Given the description of an element on the screen output the (x, y) to click on. 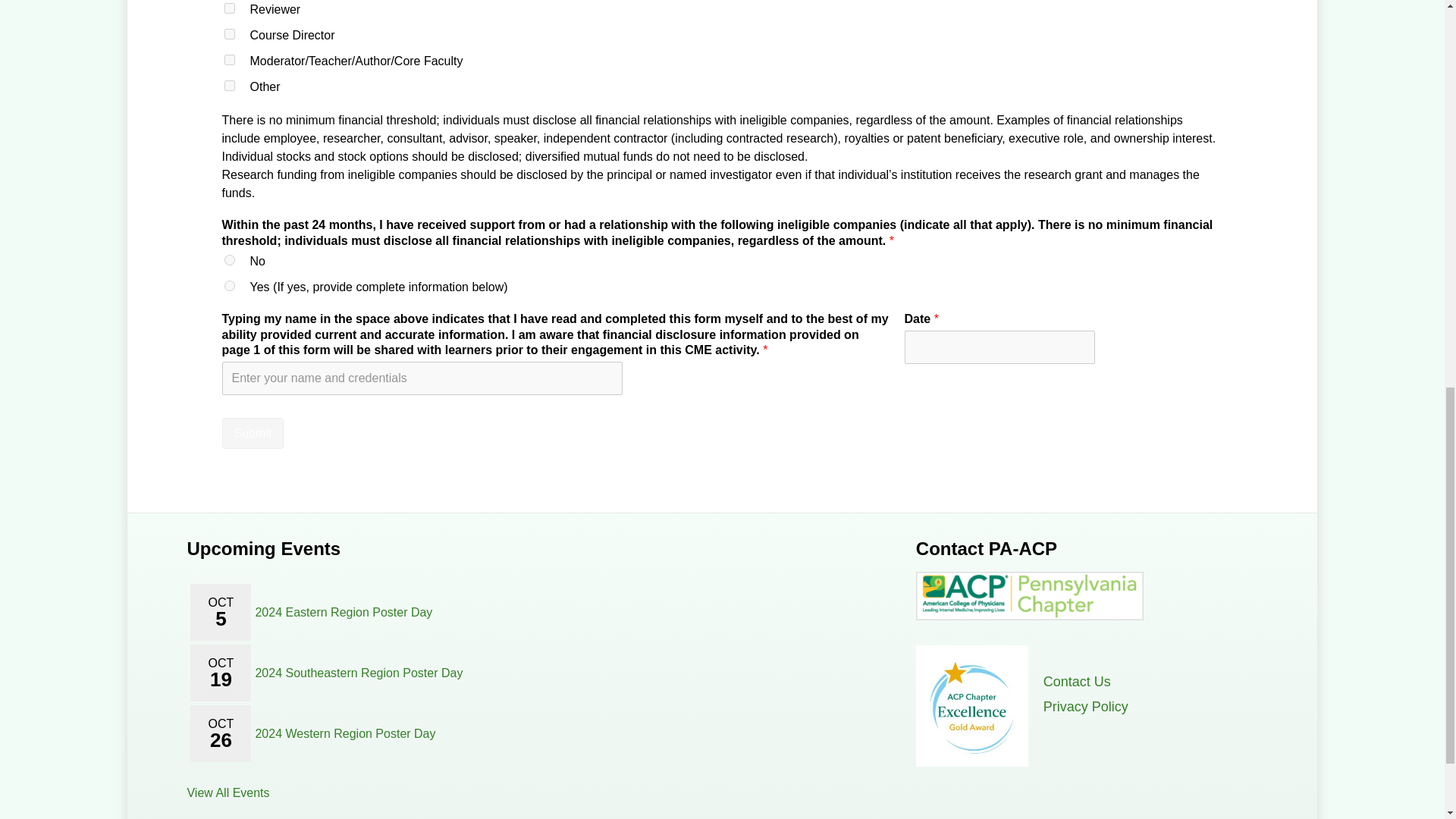
Reviewer (229, 8)
No (229, 259)
Other (229, 85)
Course Director (229, 33)
